Given the description of an element on the screen output the (x, y) to click on. 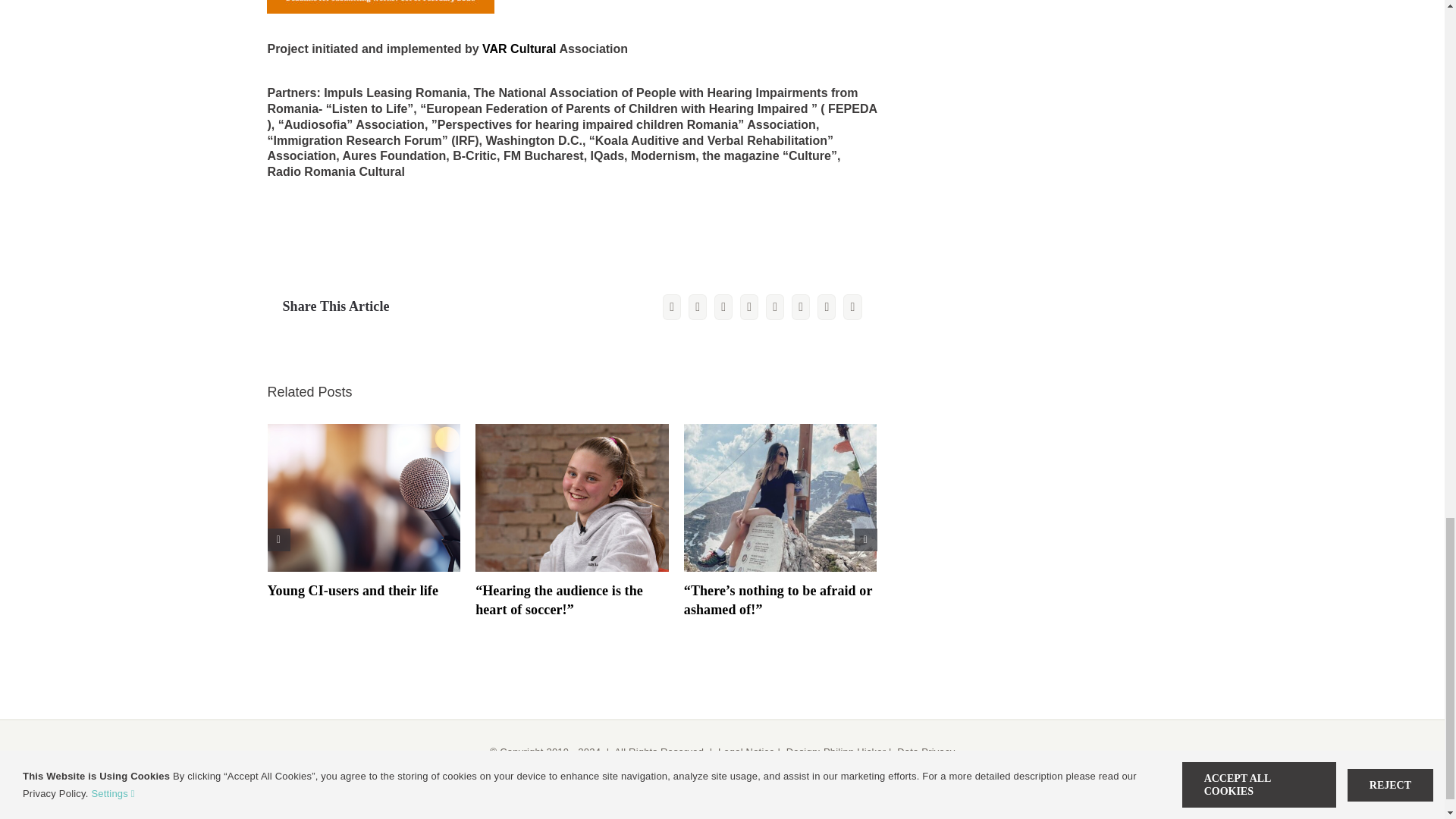
VAR Cultural (518, 48)
